Given the description of an element on the screen output the (x, y) to click on. 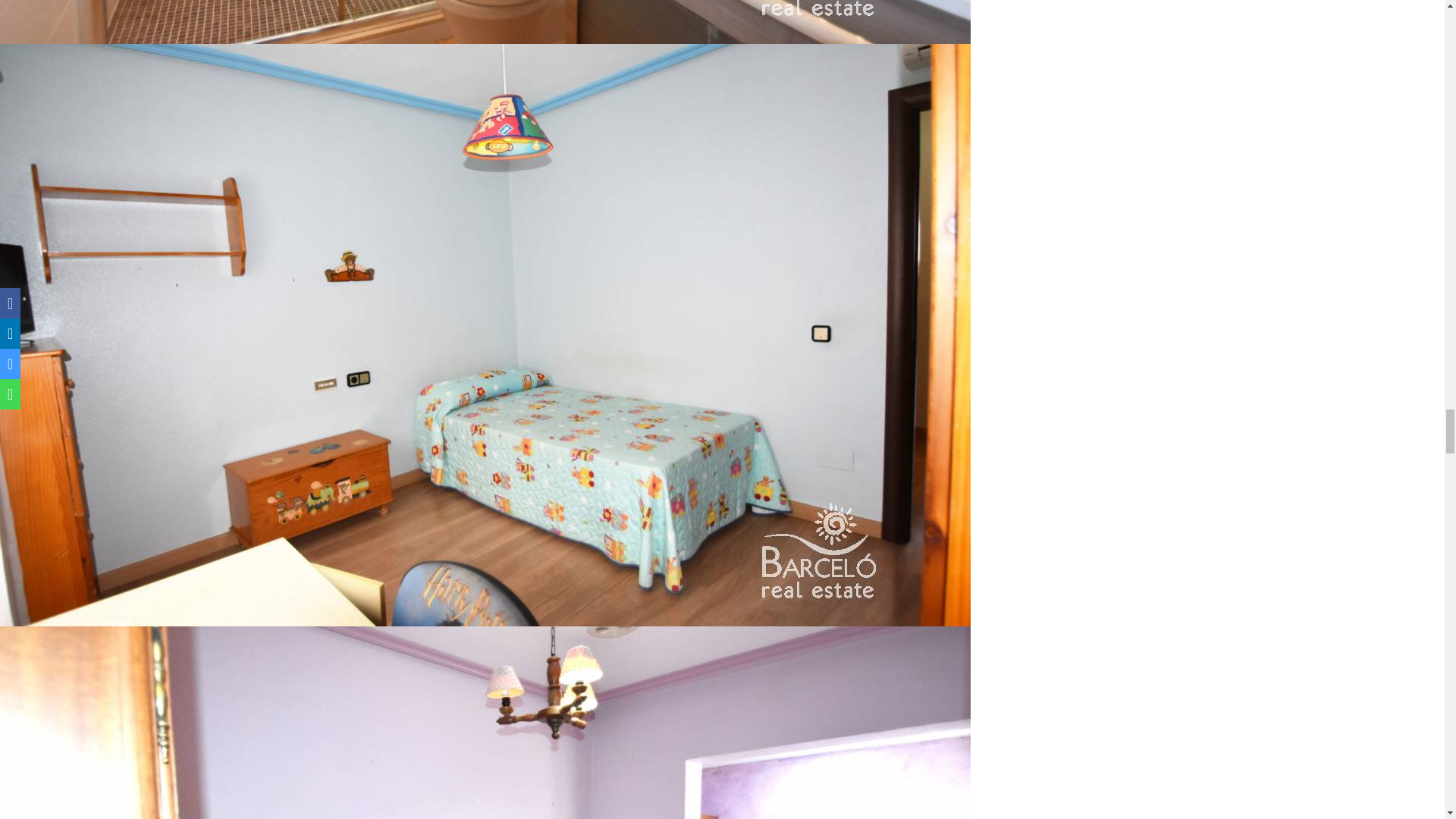
Resale - Attached - Los Montesinos - Center (485, 22)
